Given the description of an element on the screen output the (x, y) to click on. 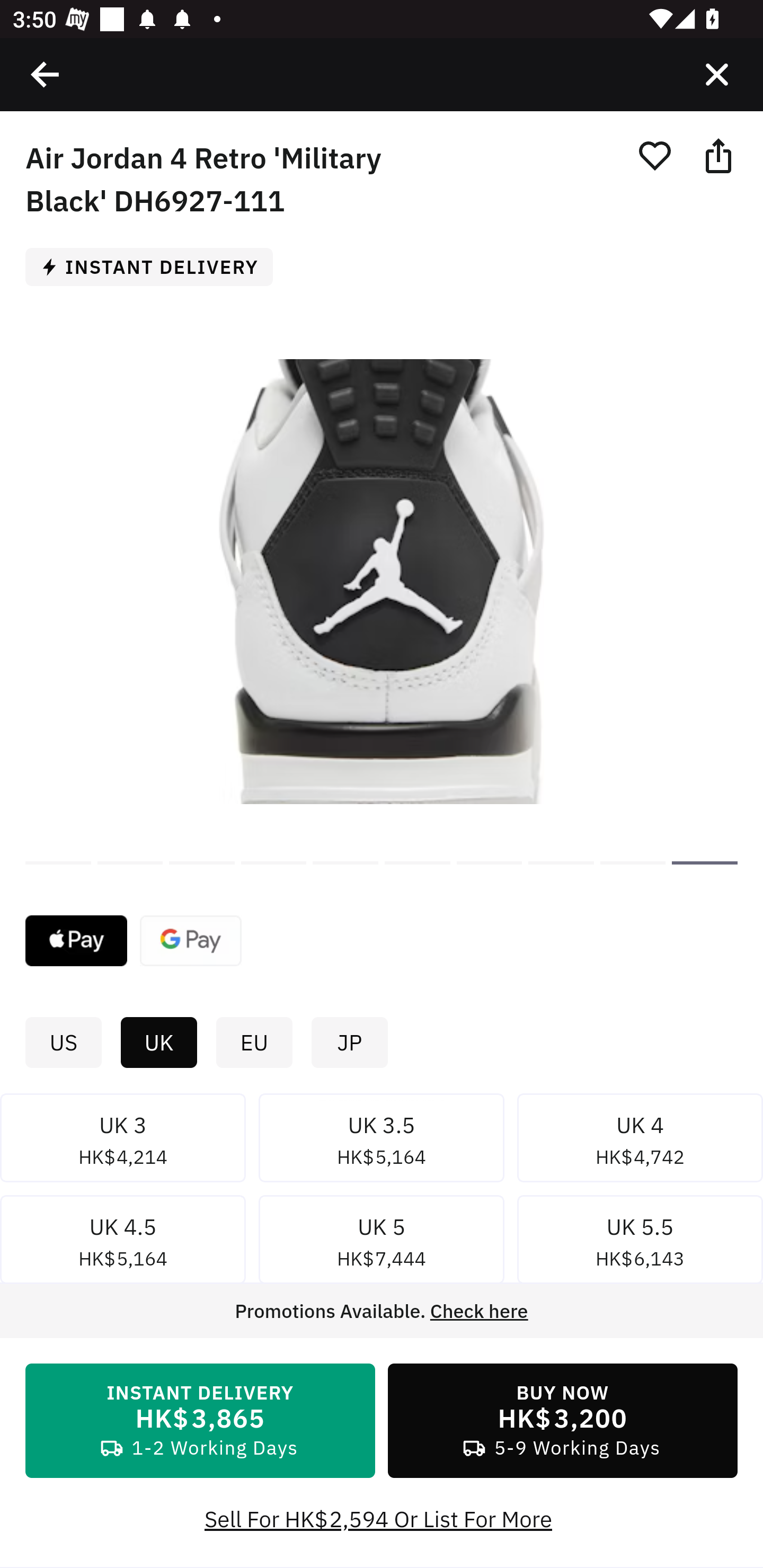
 (46, 74)
 (716, 74)
wishlist (654, 155)
INSTANT DELIVERY (155, 266)
US (63, 1042)
UK (158, 1042)
EU (253, 1042)
JP (349, 1042)
UK 3 HK$ 4,214 (122, 1140)
UK 3.5 HK$ 5,164 (381, 1140)
UK 4 HK$ 4,742 (639, 1140)
UK 4.5 HK$ 5,164 (122, 1242)
UK 5 HK$ 7,444 (381, 1242)
UK 5.5 HK$ 6,143 (639, 1242)
Promotions Available. Check here (381, 1310)
INSTANT DELIVERY HK$ 3,865 1-2 Working Days (200, 1421)
BUY NOW HK$ 3,200 5-9 Working Days (562, 1421)
Sell For HK$ 2,594 Or List For More (381, 1519)
